Given the description of an element on the screen output the (x, y) to click on. 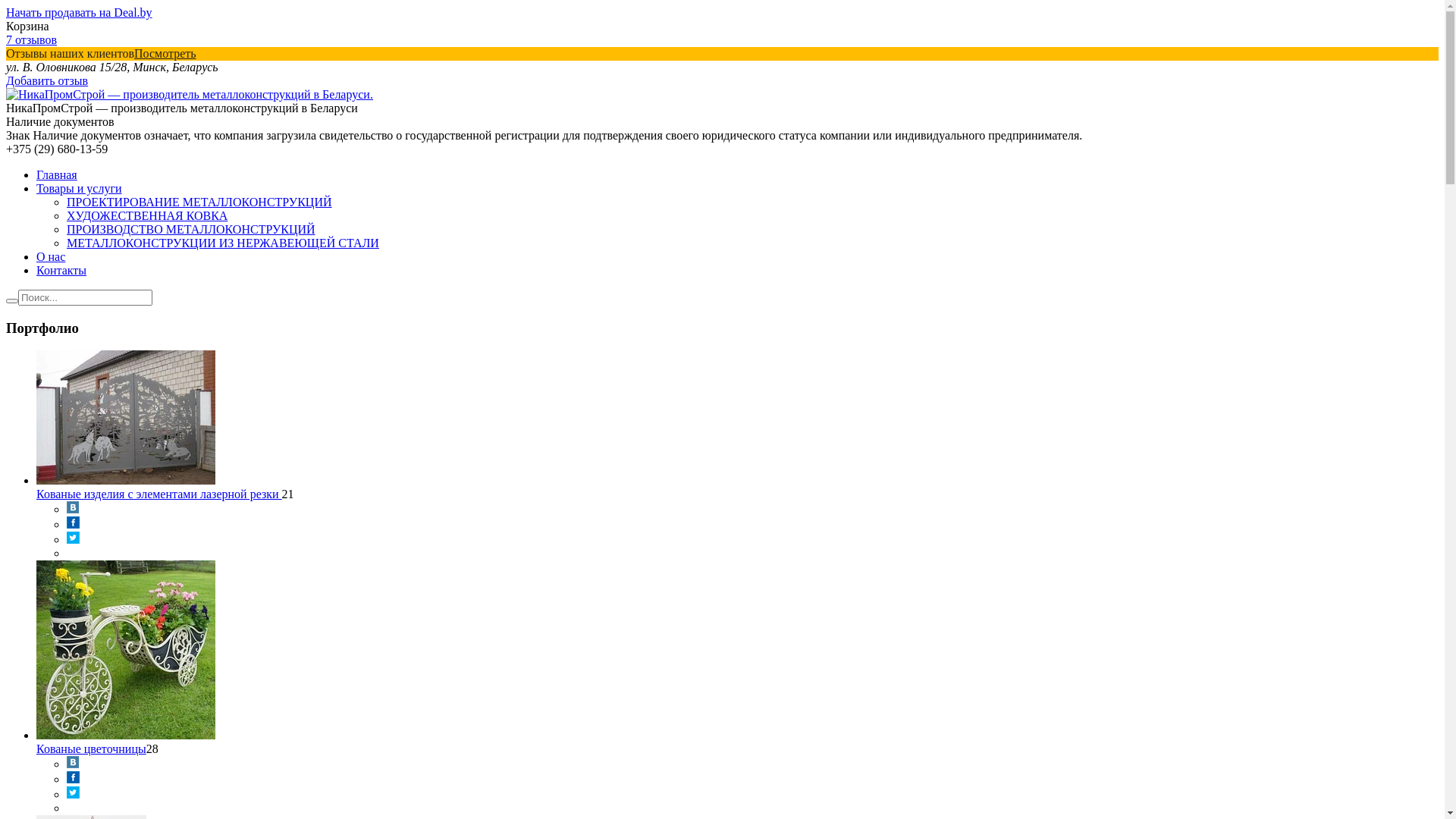
twitter Element type: hover (72, 539)
facebook Element type: hover (72, 523)
twitter Element type: hover (72, 793)
facebook Element type: hover (72, 778)
